Given the description of an element on the screen output the (x, y) to click on. 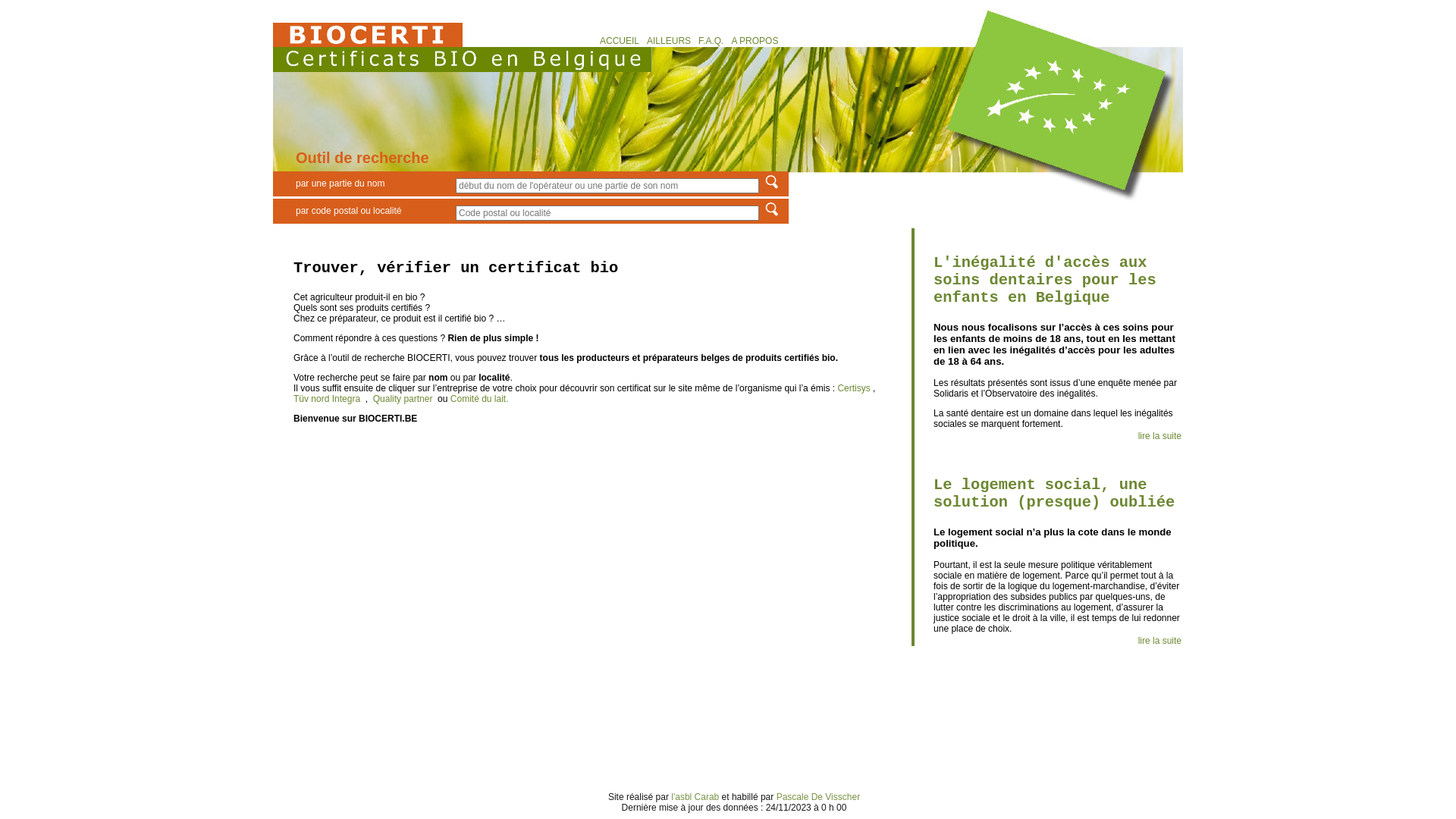
lire la suite Element type: text (1159, 435)
l'asbl Carab Element type: text (696, 796)
F.A.Q. Element type: text (710, 40)
ACCUEIL Element type: text (619, 40)
AILLEURS Element type: text (668, 40)
Quality partner  Element type: text (404, 398)
Pascale De Visscher Element type: text (818, 796)
lire la suite Element type: text (1159, 640)
Certisys Element type: text (854, 387)
A PROPOS Element type: text (754, 40)
